Given the description of an element on the screen output the (x, y) to click on. 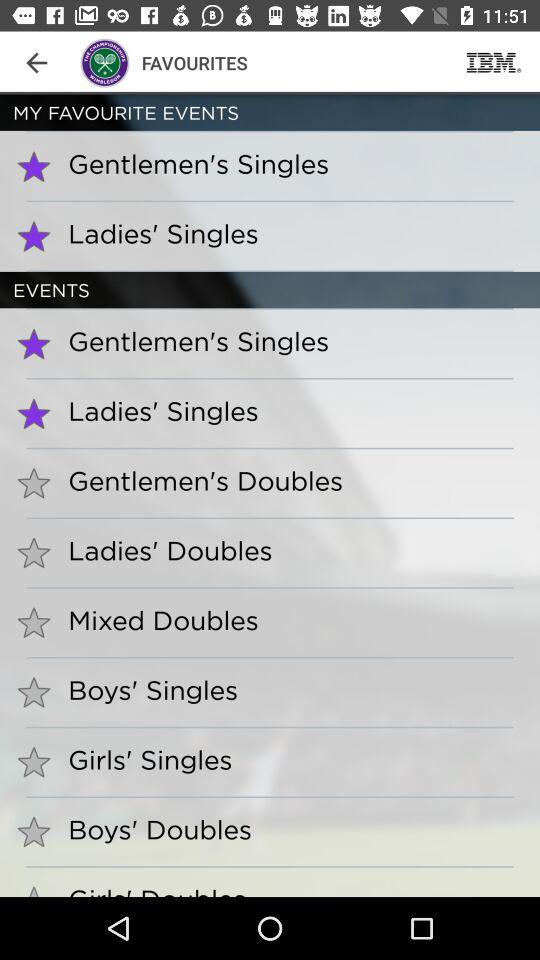
launch mixed doubles item (156, 619)
